Given the description of an element on the screen output the (x, y) to click on. 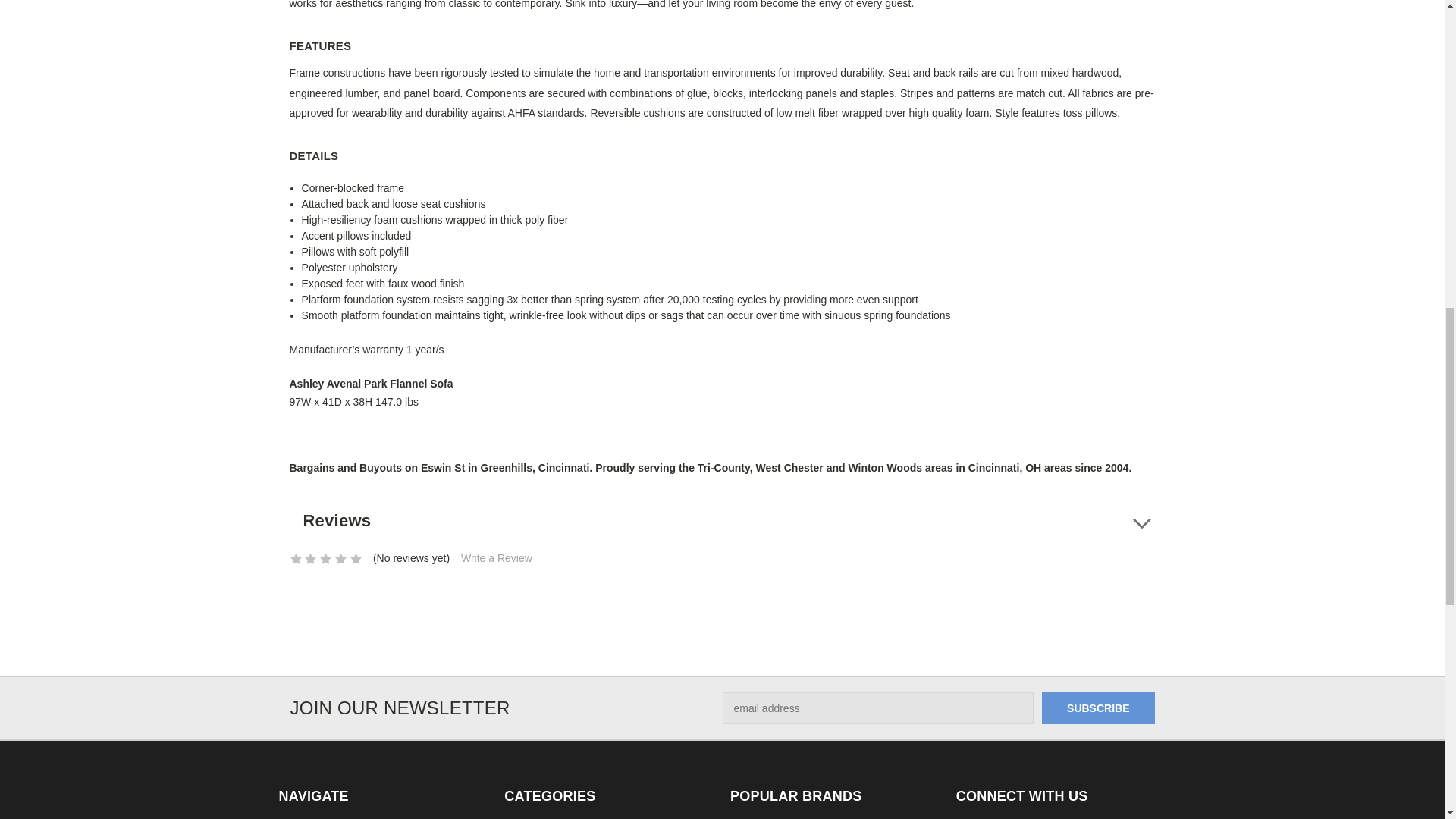
Subscribe (1098, 707)
